Given the description of an element on the screen output the (x, y) to click on. 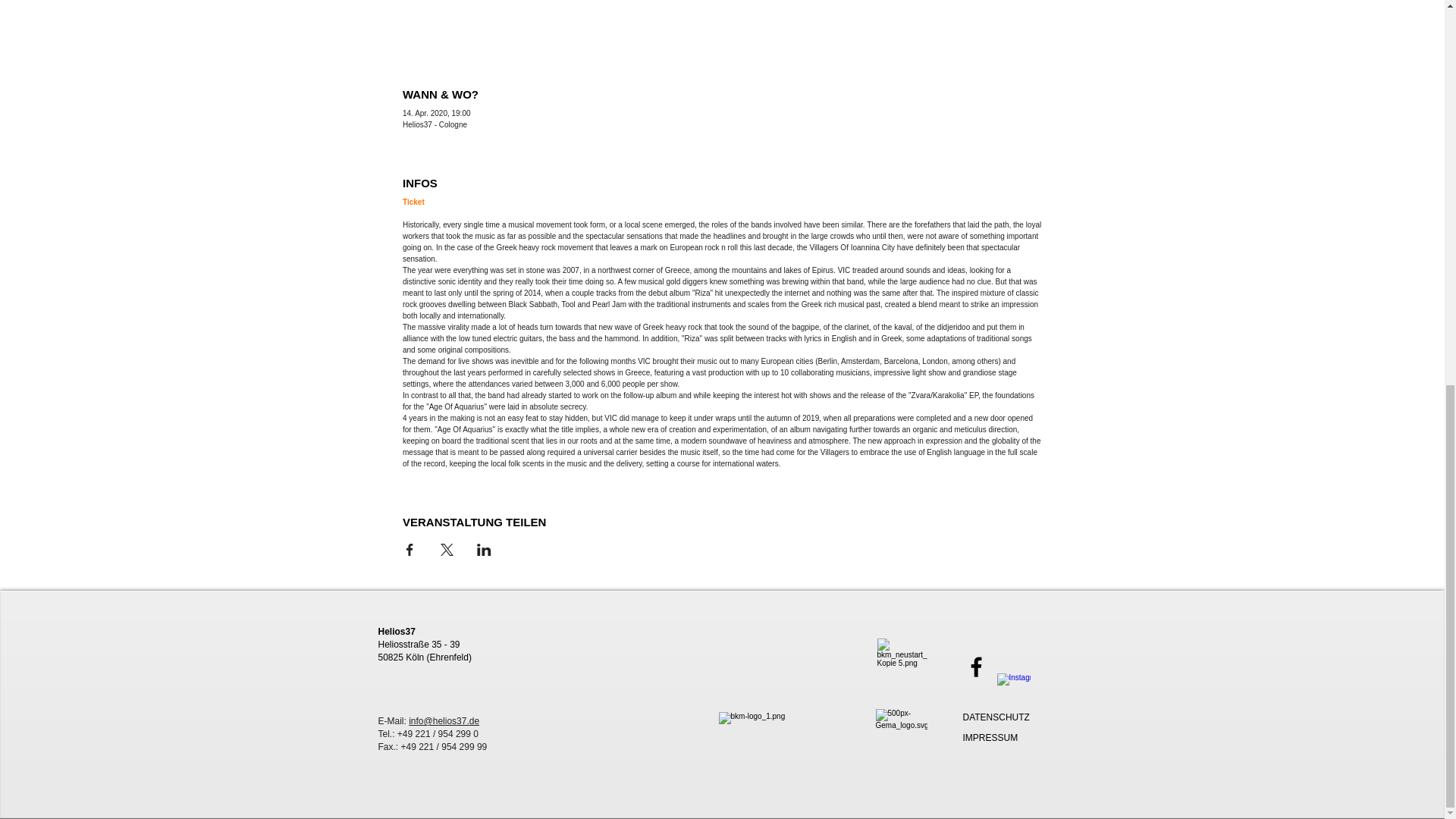
IMPRESSUM (989, 737)
DATENSCHUTZ (995, 716)
Ticket (414, 202)
